Given the description of an element on the screen output the (x, y) to click on. 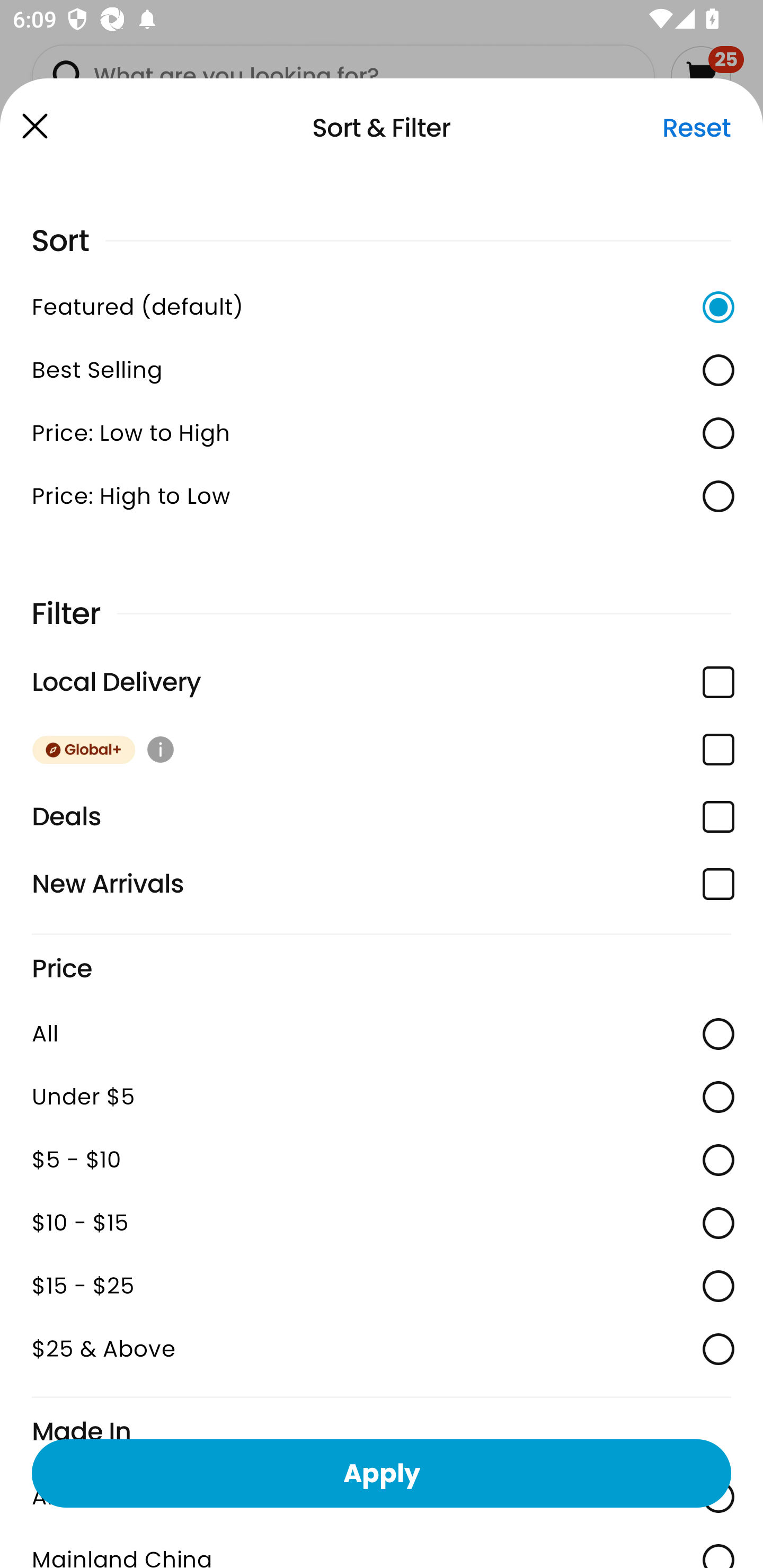
Reset (696, 127)
Apply (381, 1472)
